Given the description of an element on the screen output the (x, y) to click on. 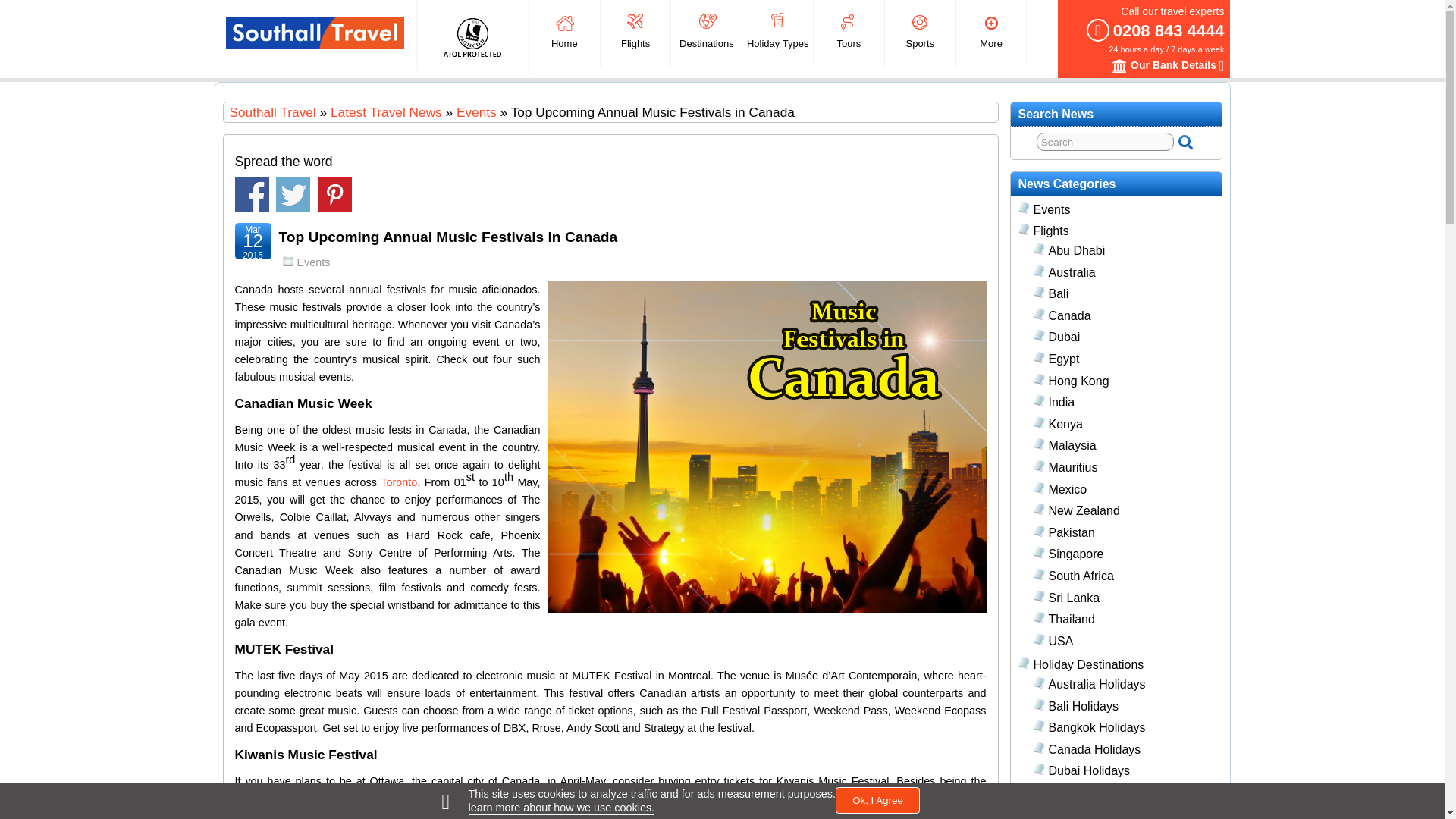
Search (1104, 141)
Search (1104, 141)
Home (564, 32)
Flights (635, 32)
Holiday Types (777, 32)
Top Upcoming Annual Music Festivals in Canada (448, 236)
ATOL Protection (472, 36)
Sports (920, 32)
Tours (848, 32)
Our Bank Details (1118, 65)
